Given the description of an element on the screen output the (x, y) to click on. 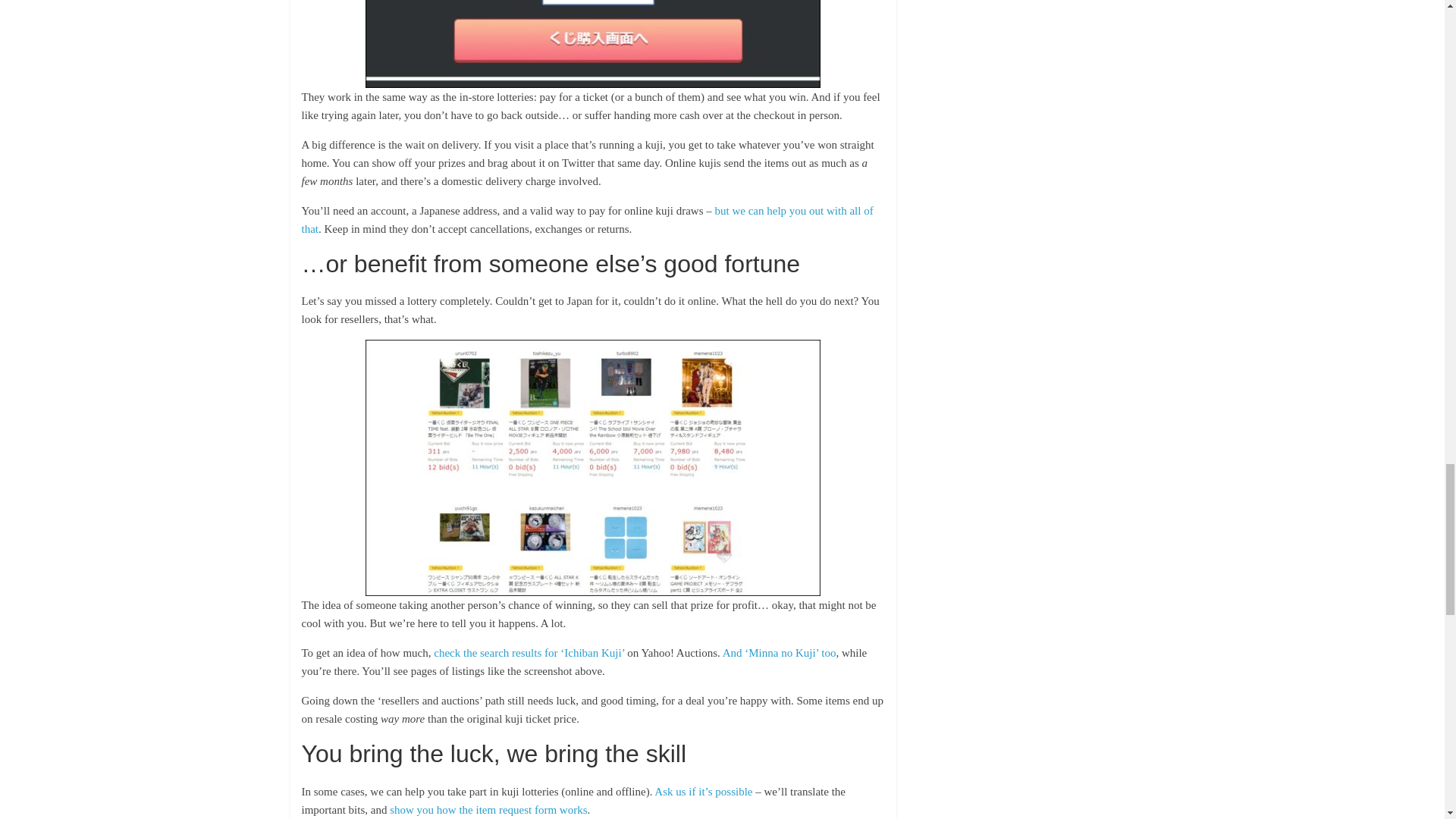
but we can help you out with all of that (587, 219)
